Given the description of an element on the screen output the (x, y) to click on. 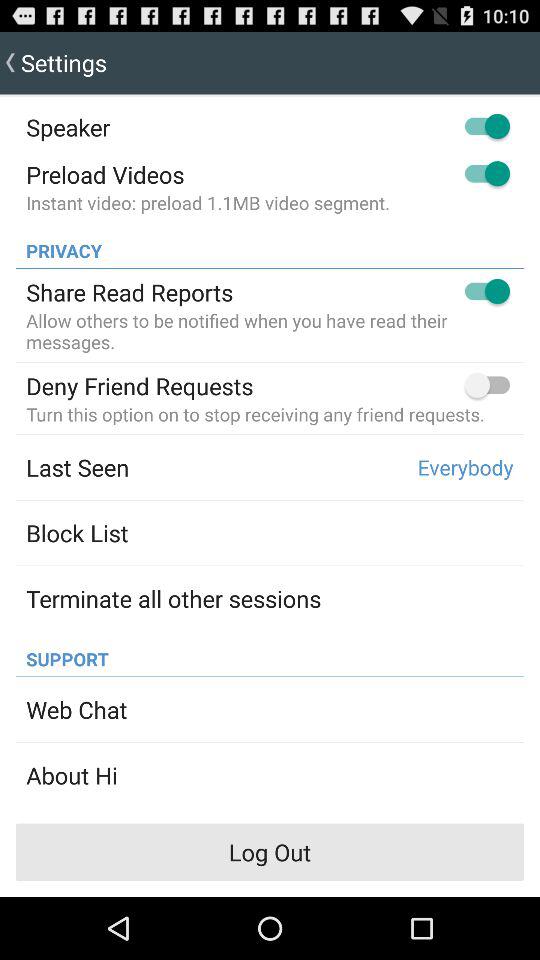
launch the icon below instant video preload (58, 245)
